Given the description of an element on the screen output the (x, y) to click on. 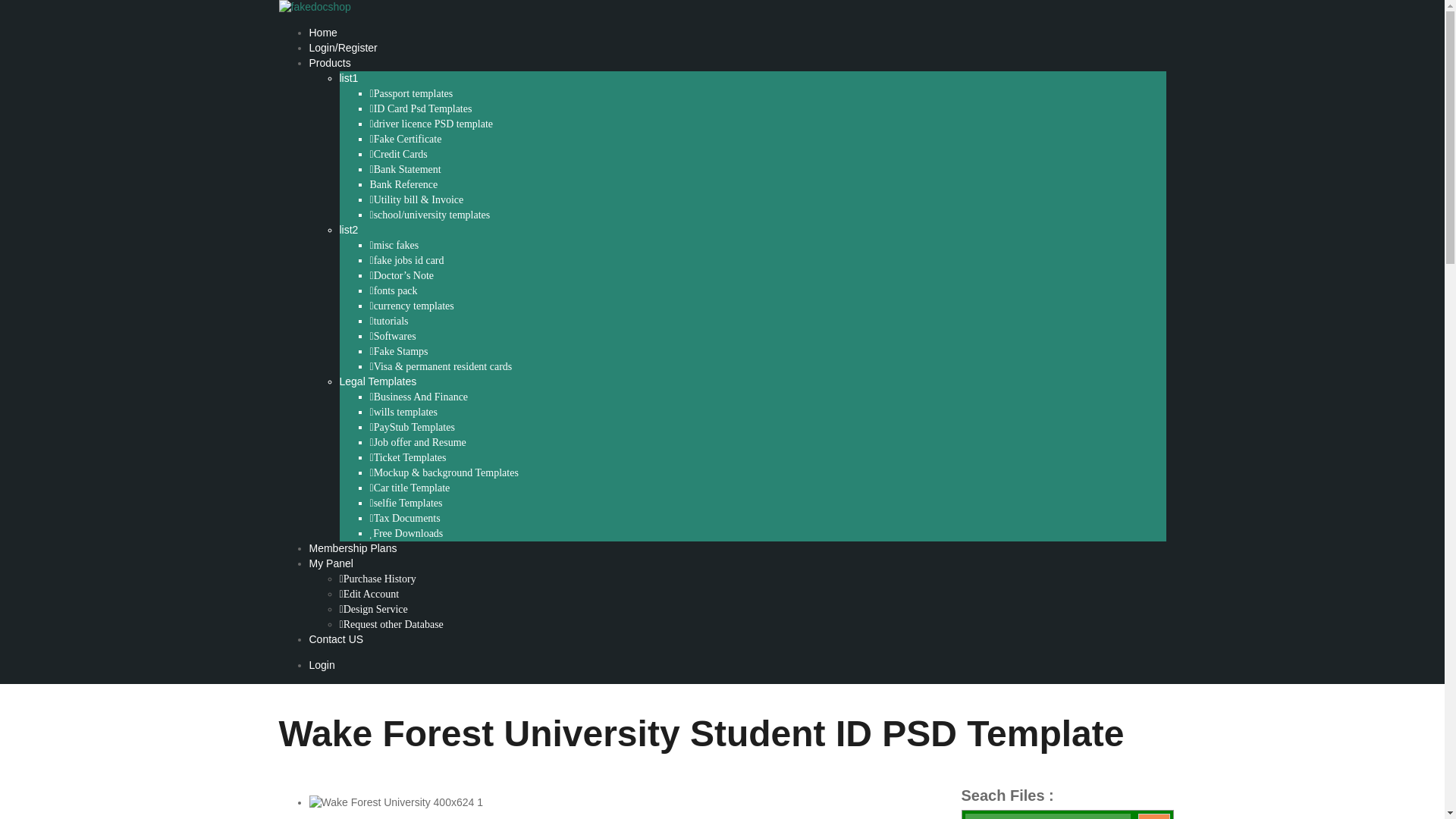
Fake Certificate (405, 139)
tutorials (389, 321)
My Panel (330, 563)
wills templates (403, 412)
fake jobs id card (406, 260)
Ticket Templates (407, 457)
Membership Plans (352, 548)
Fake Stamps (398, 351)
currency templates (411, 306)
PayStub Templates (411, 427)
